Given the description of an element on the screen output the (x, y) to click on. 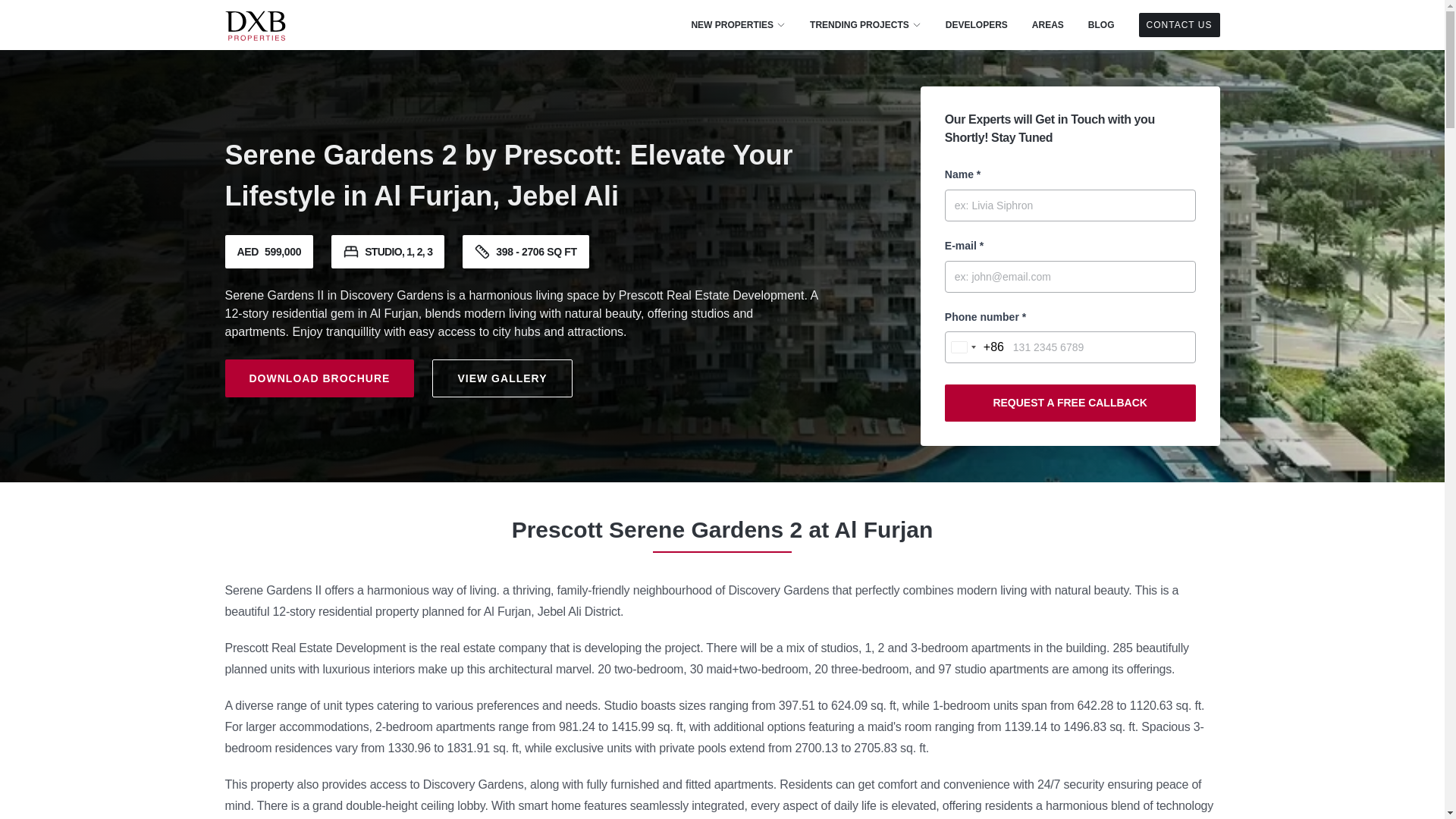
AREAS (1048, 24)
China (974, 347)
VIEW GALLERY (502, 378)
REQUEST A FREE CALLBACK (1069, 402)
CONTACT US (1179, 24)
VIEW GALLERY (502, 378)
DEVELOPERS (975, 24)
DOWNLOAD BROCHURE (318, 378)
NEW PROPERTIES (738, 24)
DXB logo (254, 24)
